Given the description of an element on the screen output the (x, y) to click on. 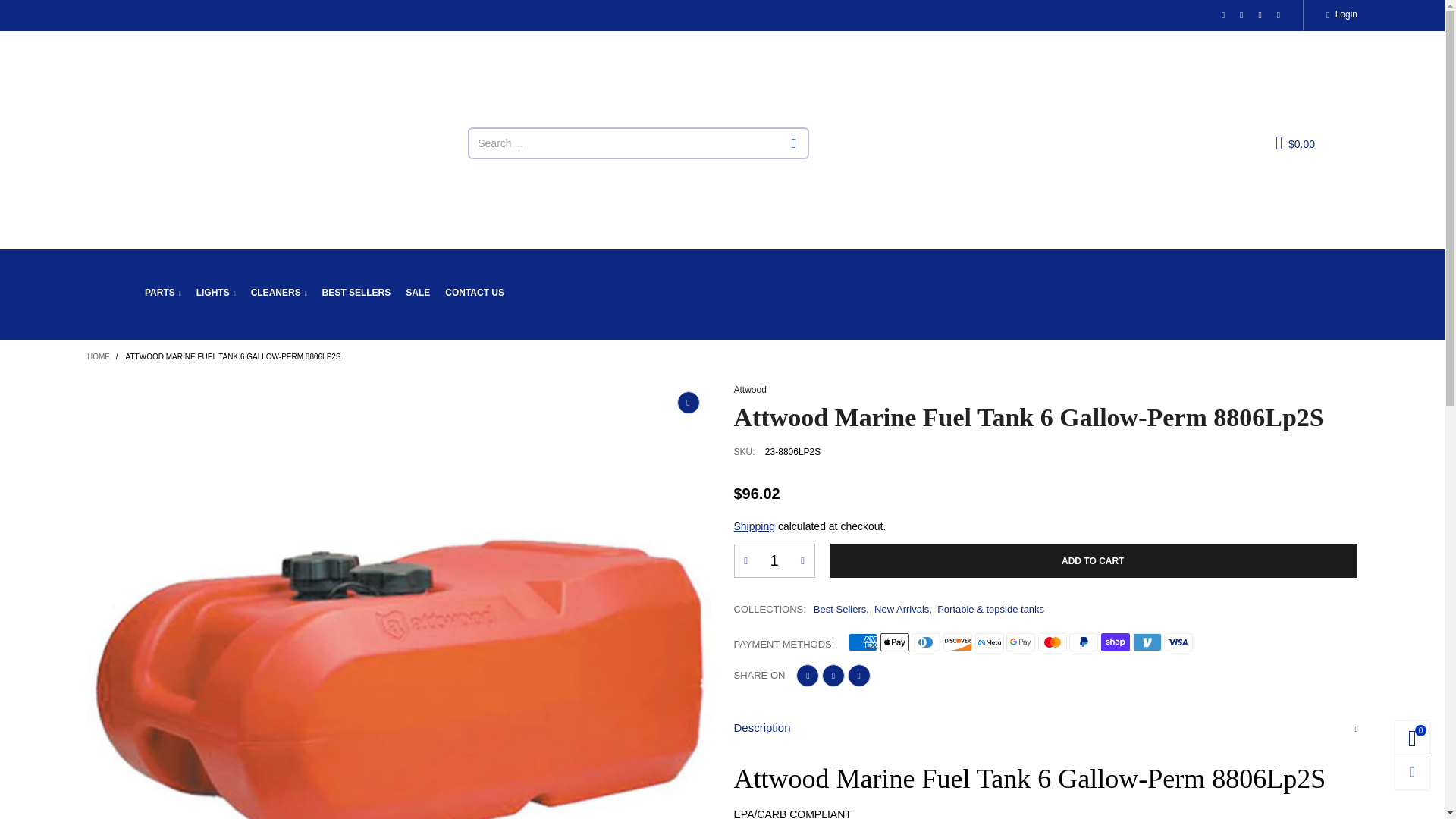
Visa (1177, 642)
Vimeo (1278, 14)
PARTS (162, 293)
Facebook (1240, 14)
Mastercard (1052, 642)
Submit (794, 142)
Cart (1295, 143)
1 (773, 560)
Login (1341, 14)
Parts (162, 293)
PayPal (1082, 642)
Apple Pay (894, 642)
Meta Pay (989, 642)
Google Pay (1020, 642)
Venmo (1146, 642)
